Given the description of an element on the screen output the (x, y) to click on. 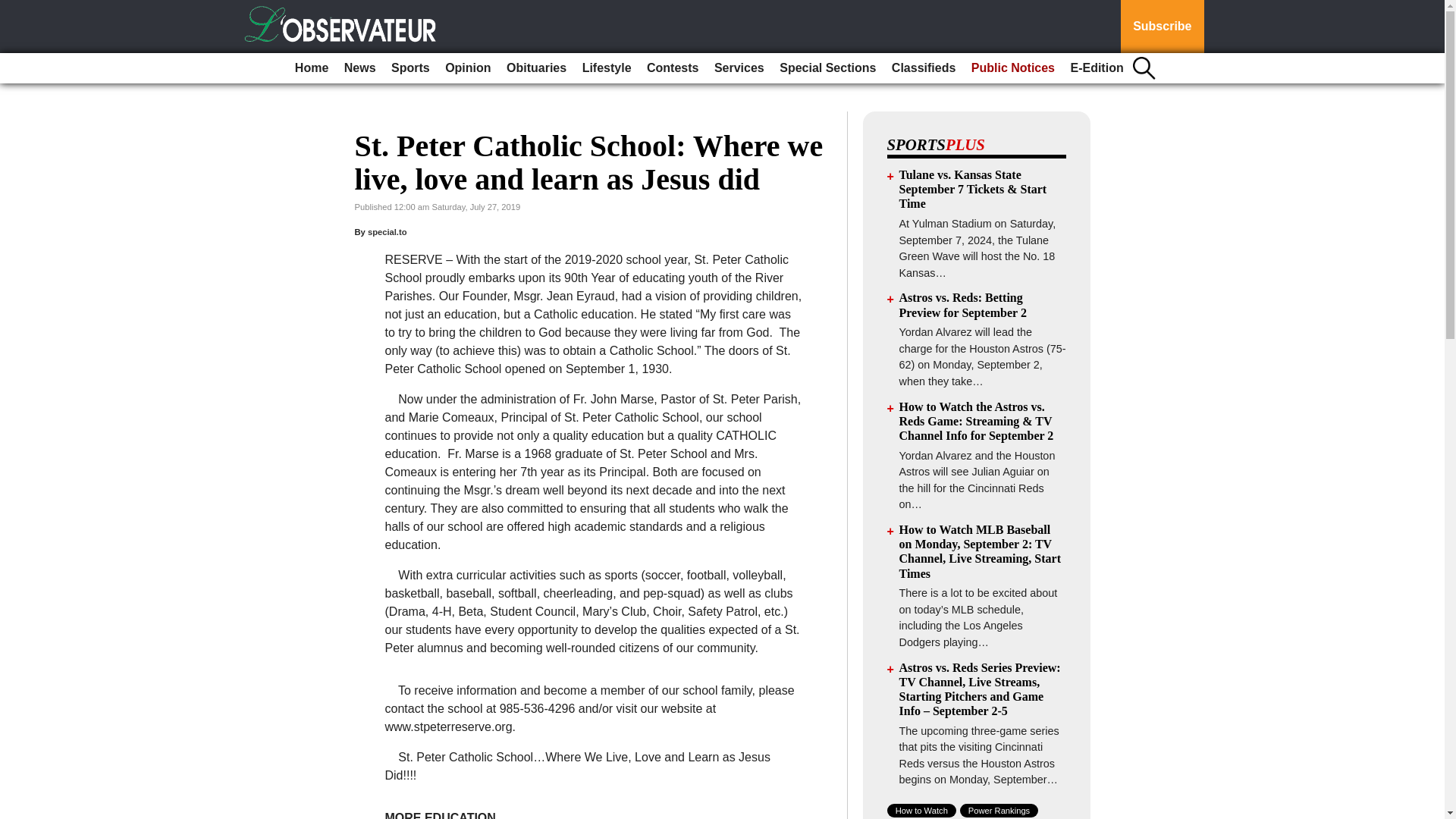
Lifestyle (606, 68)
Public Notices (1013, 68)
Go (13, 9)
Home (311, 68)
Special Sections (827, 68)
Contests (672, 68)
How to Watch (921, 810)
Obituaries (536, 68)
News (359, 68)
Services (738, 68)
